Given the description of an element on the screen output the (x, y) to click on. 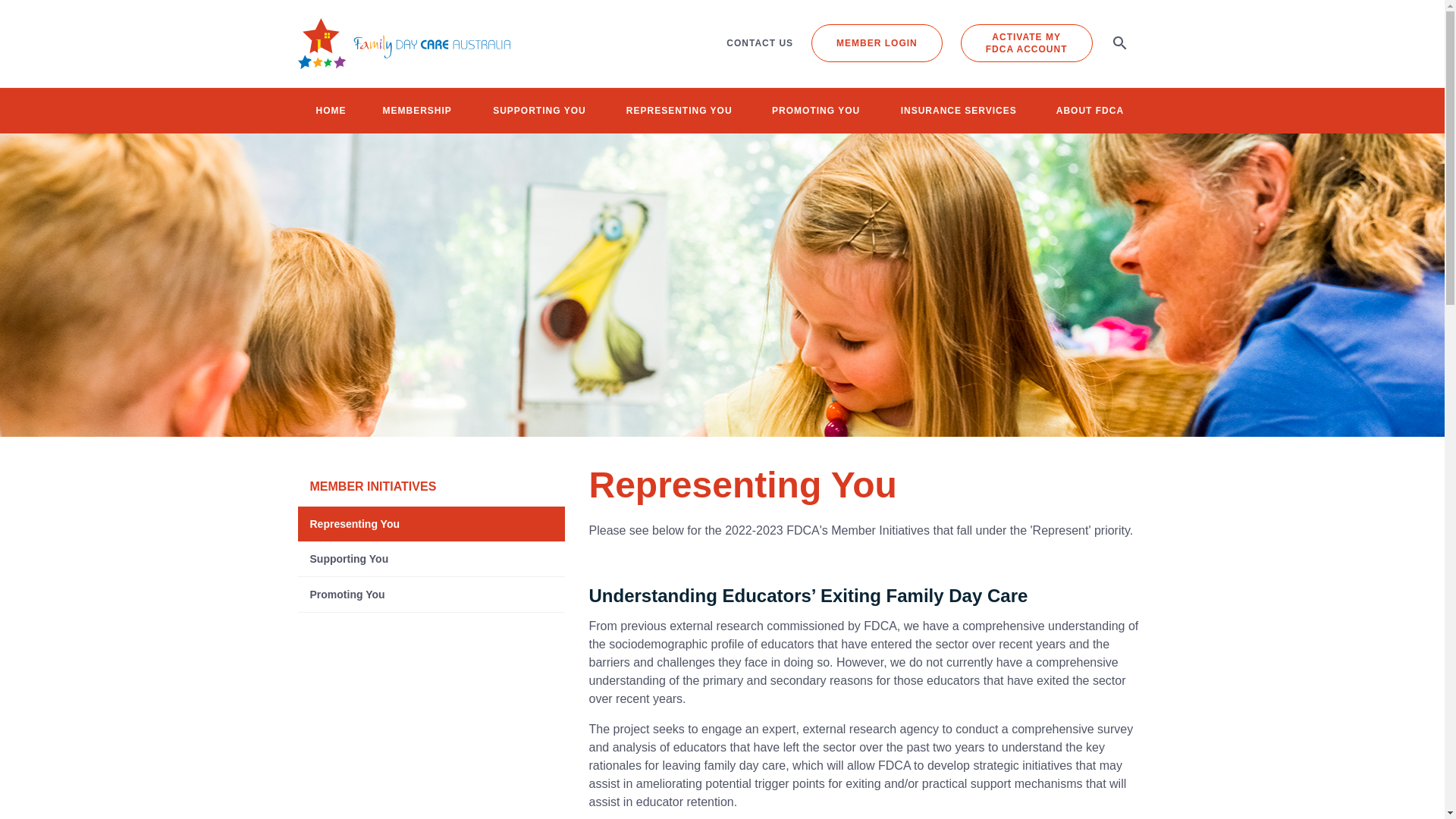
REPRESENTING YOU (679, 110)
CONTACT US (758, 42)
MEMBER LOGIN (876, 43)
SUPPORTING YOU (539, 110)
MEMBERSHIP (416, 110)
HOME (1026, 43)
